Given the description of an element on the screen output the (x, y) to click on. 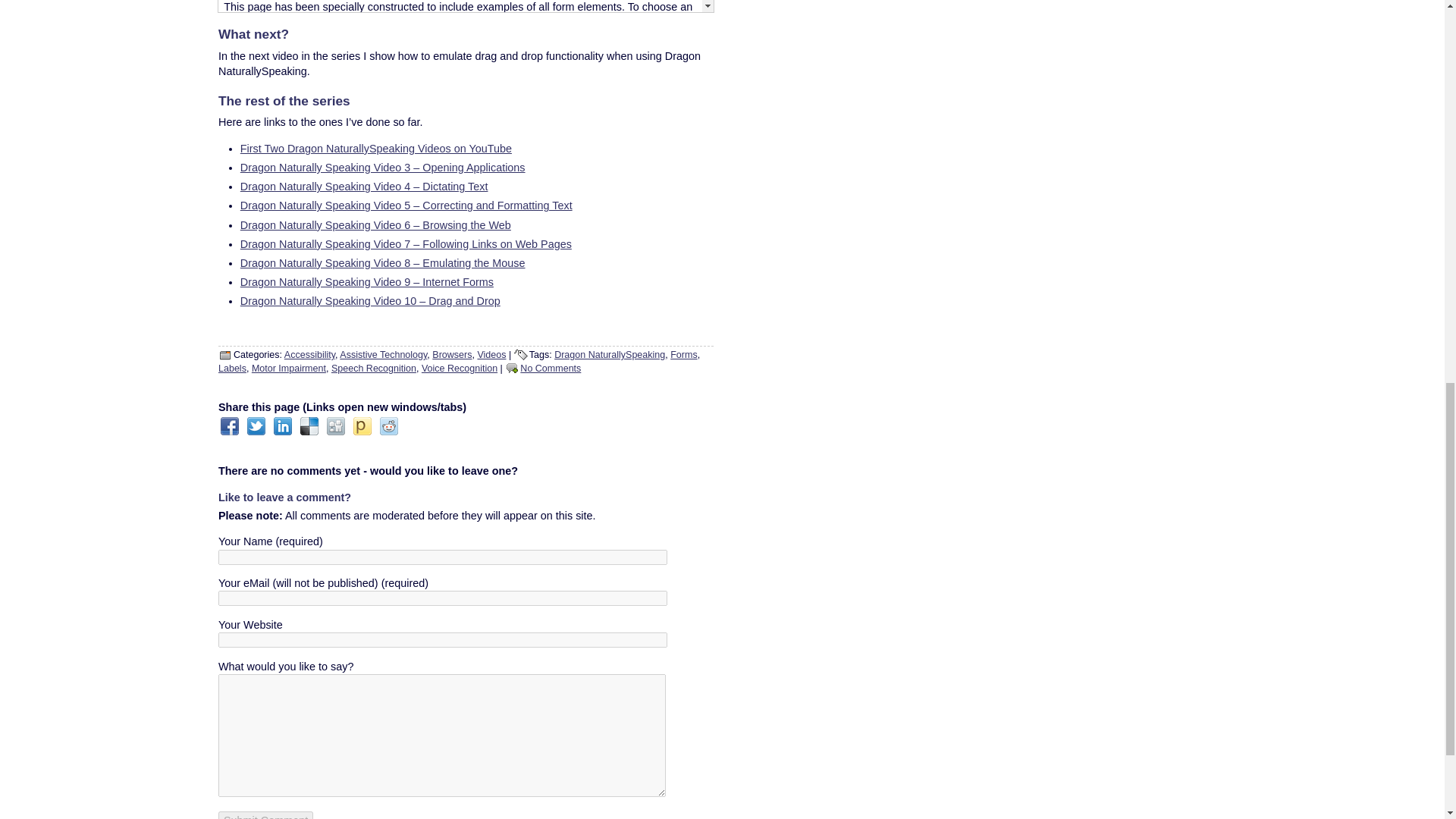
Submit Comment (265, 815)
Voice Recognition (459, 368)
Assistive Technology (382, 354)
Speech Recognition (373, 368)
Dragon NaturallySpeaking (609, 354)
Motor Impairment (288, 368)
Labels (232, 368)
Browsers (451, 354)
Accessibility (308, 354)
